Given the description of an element on the screen output the (x, y) to click on. 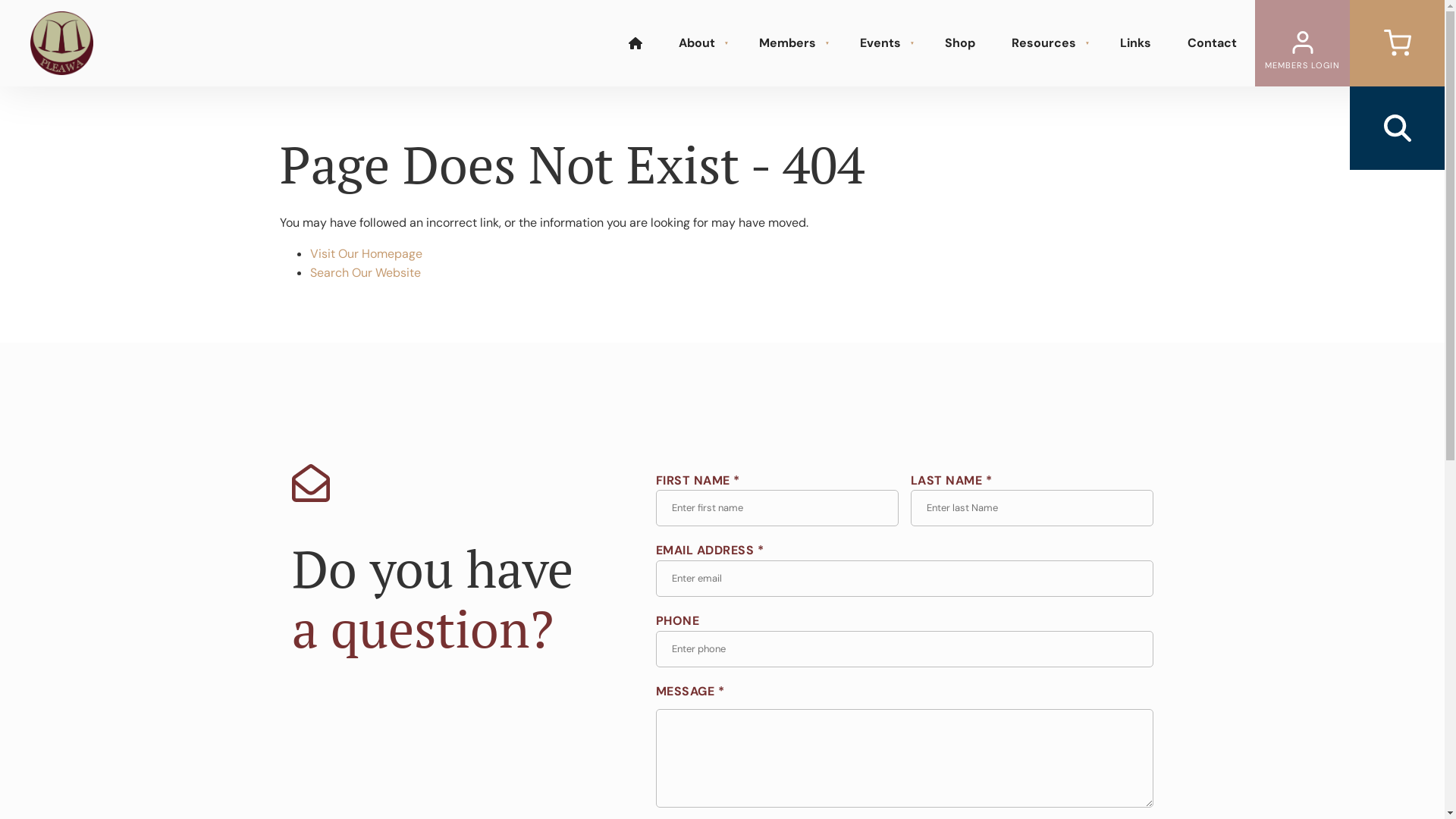
Events Element type: text (883, 42)
Members Element type: text (790, 42)
Visit Our Homepage Element type: text (365, 253)
MEMBERS LOGIN Element type: text (1302, 43)
Shop Element type: text (959, 42)
Resources Element type: text (1047, 42)
Contact Element type: text (1212, 42)
Links Element type: text (1135, 42)
About Element type: text (700, 42)
Search Our Website Element type: text (364, 272)
